Given the description of an element on the screen output the (x, y) to click on. 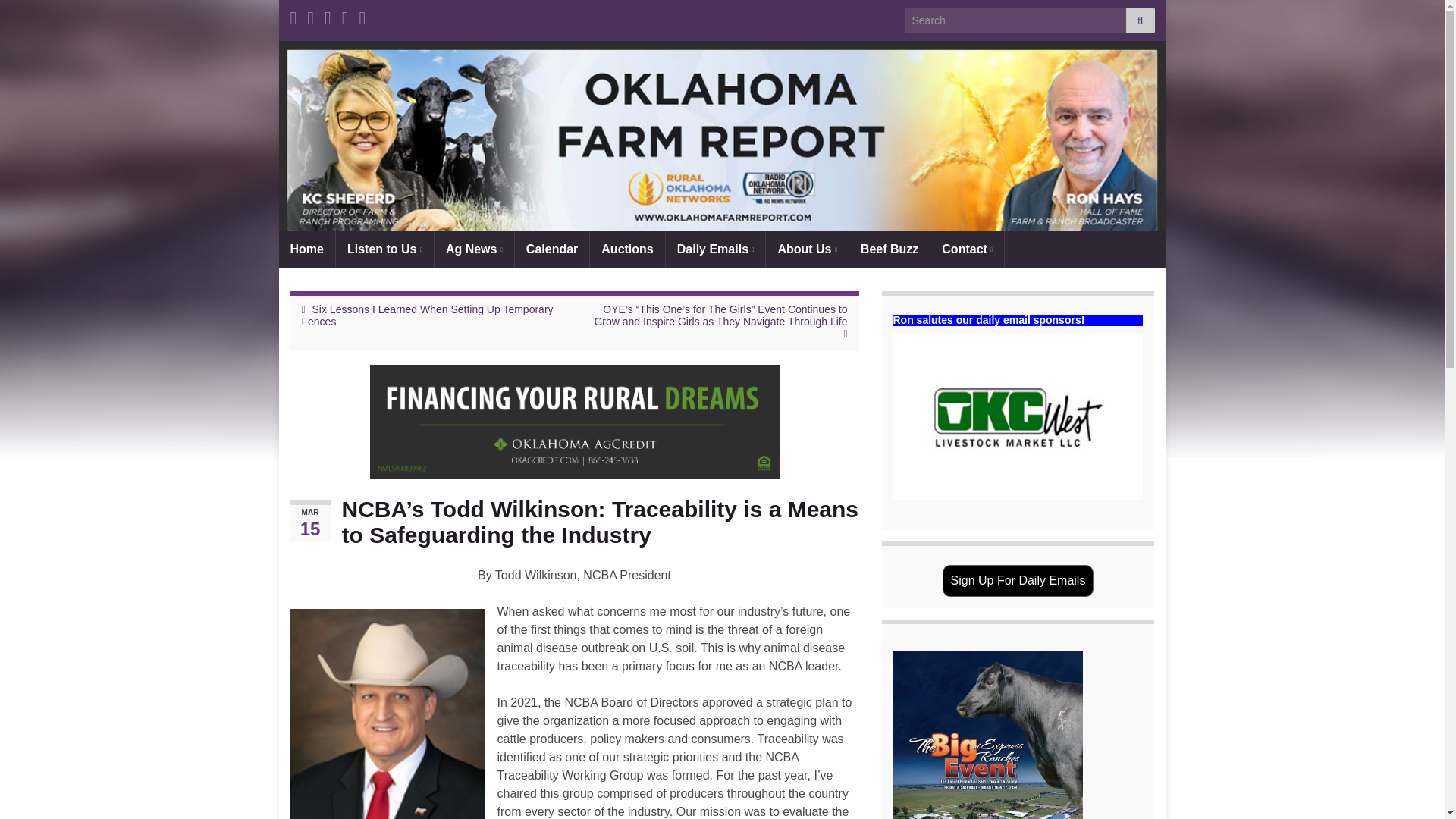
Ag News (473, 249)
Six Lessons I Learned When Setting Up Temporary Fences (427, 315)
Home (306, 249)
Listen to Us (384, 249)
About Us (806, 249)
Contact (967, 249)
Auctions (626, 249)
Beef Buzz (889, 249)
Calendar (552, 249)
Daily Emails (715, 249)
